Given the description of an element on the screen output the (x, y) to click on. 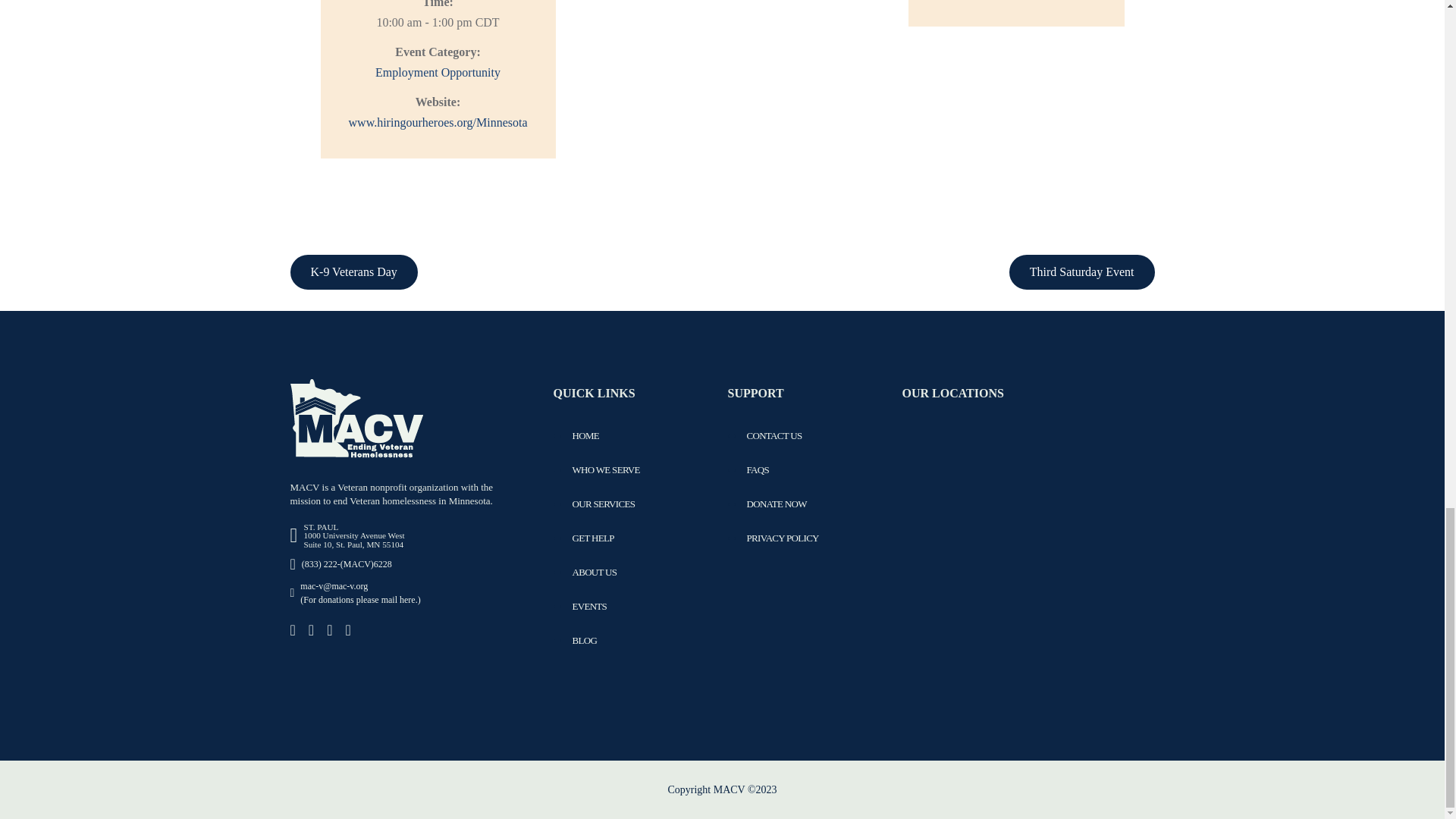
2024-03-14 (437, 22)
